Given the description of an element on the screen output the (x, y) to click on. 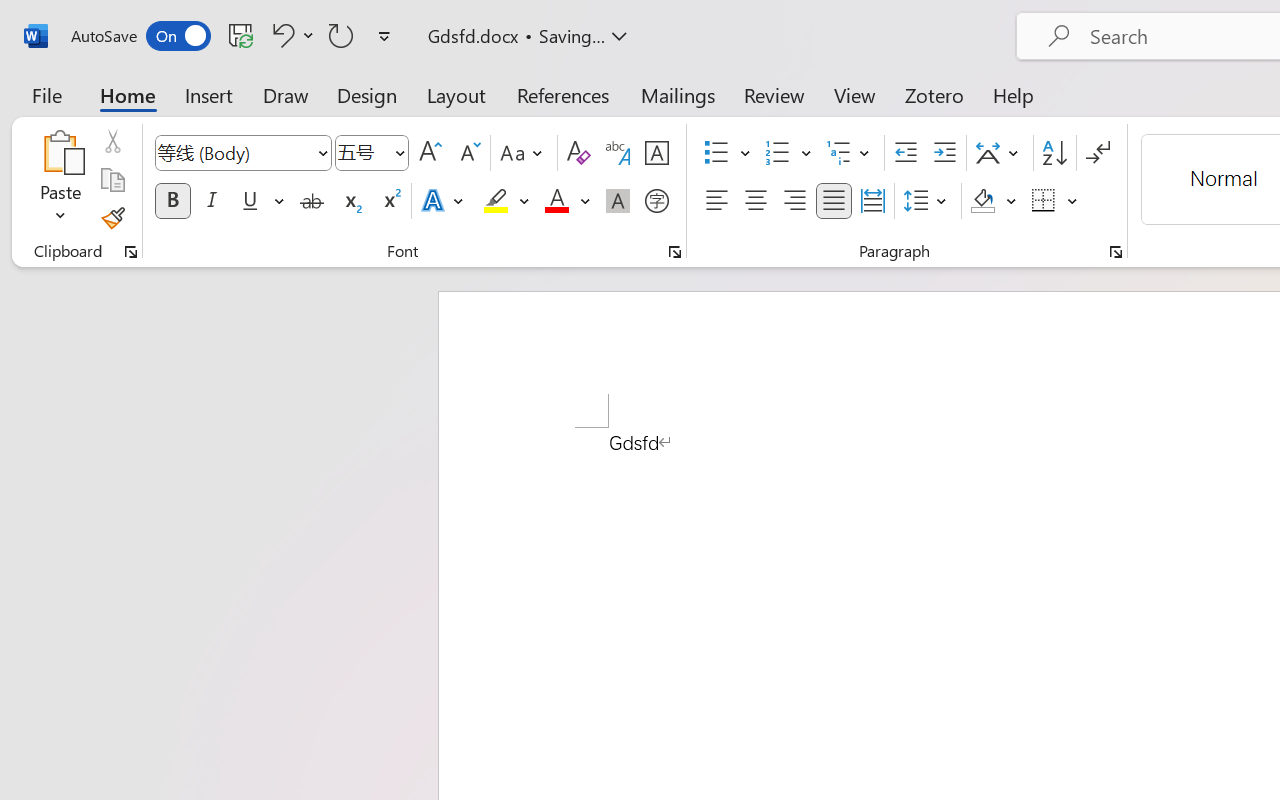
Align Left (716, 201)
Shading RGB(0, 0, 0) (982, 201)
Sort... (1054, 153)
Text Effects and Typography (444, 201)
Text Highlight Color Yellow (495, 201)
Shrink Font (468, 153)
Multilevel List (850, 153)
